Given the description of an element on the screen output the (x, y) to click on. 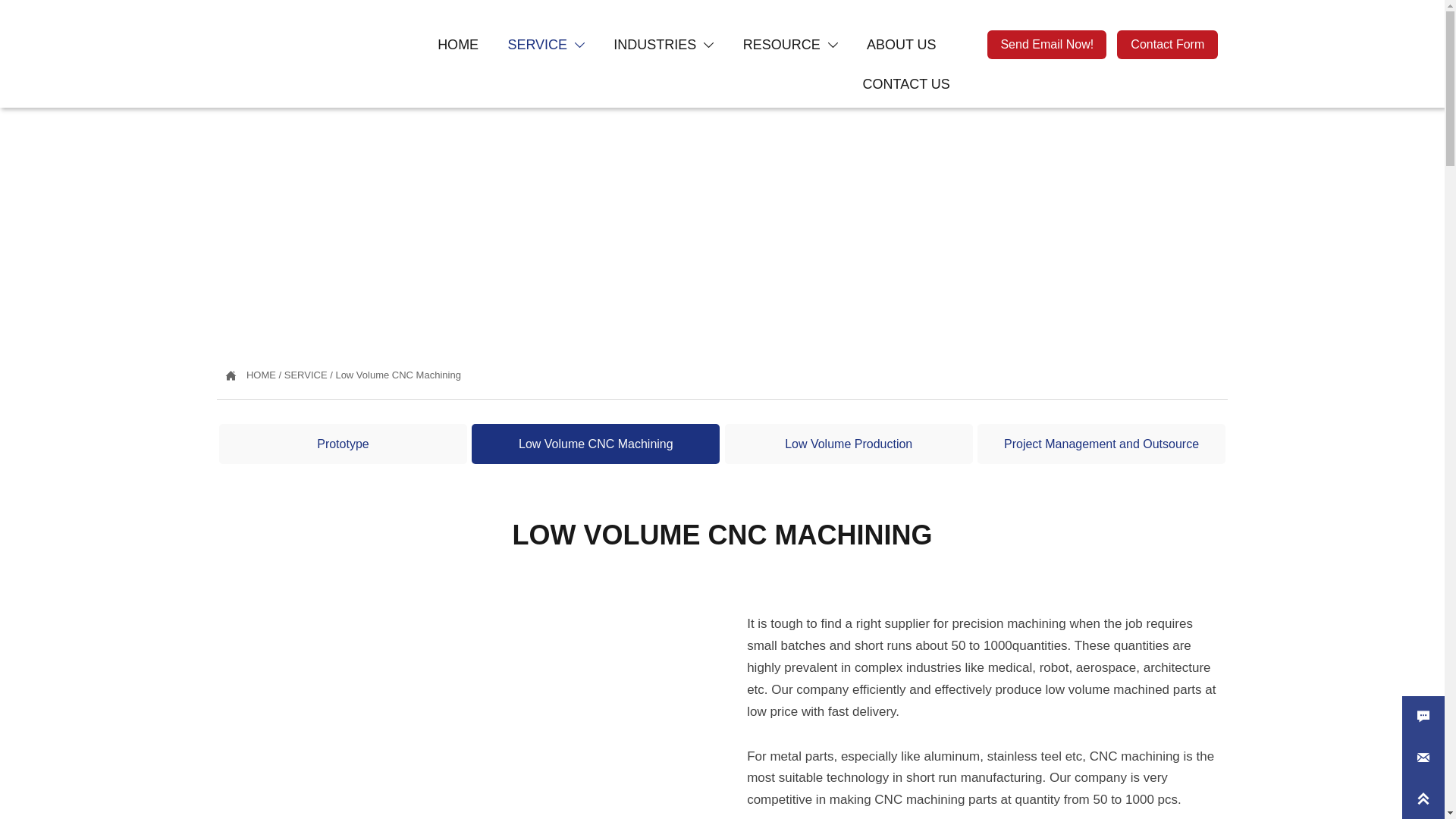
Low Volume Production Element type: text (848, 443)
SERVICE Element type: text (305, 374)
Low Volume CNC Machining Element type: text (397, 374)
Send Email Now! Element type: text (1046, 44)
CONTACT US Element type: text (906, 84)
Project Management and Outsource Element type: text (1101, 443)
Prototype Element type: text (343, 443)
HOME Element type: text (457, 45)
Low Volume CNC Machining Element type: text (595, 443)
ABOUT US Element type: text (901, 45)
HOME Element type: text (261, 374)
